Given the description of an element on the screen output the (x, y) to click on. 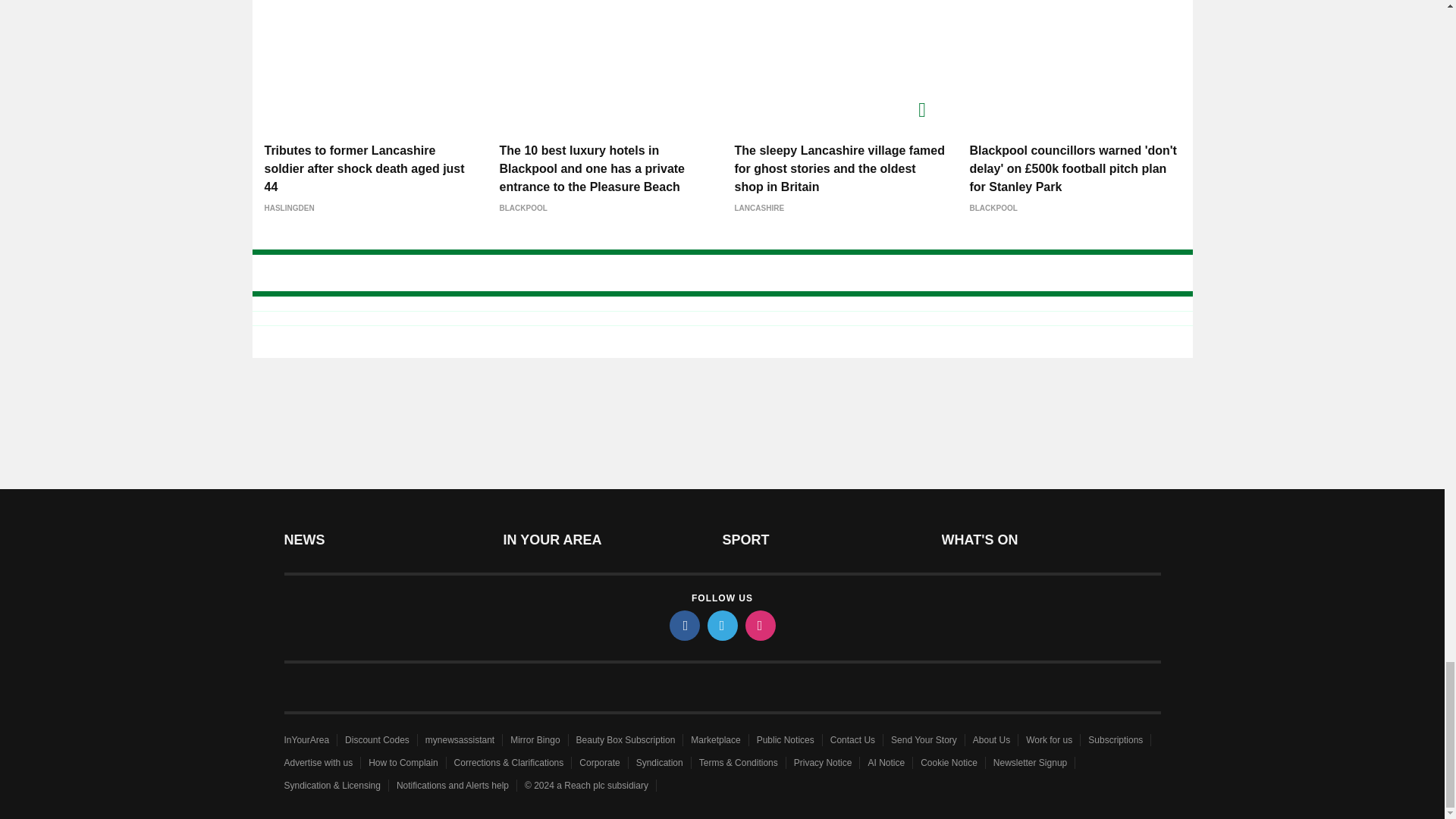
instagram (759, 625)
twitter (721, 625)
facebook (683, 625)
